Given the description of an element on the screen output the (x, y) to click on. 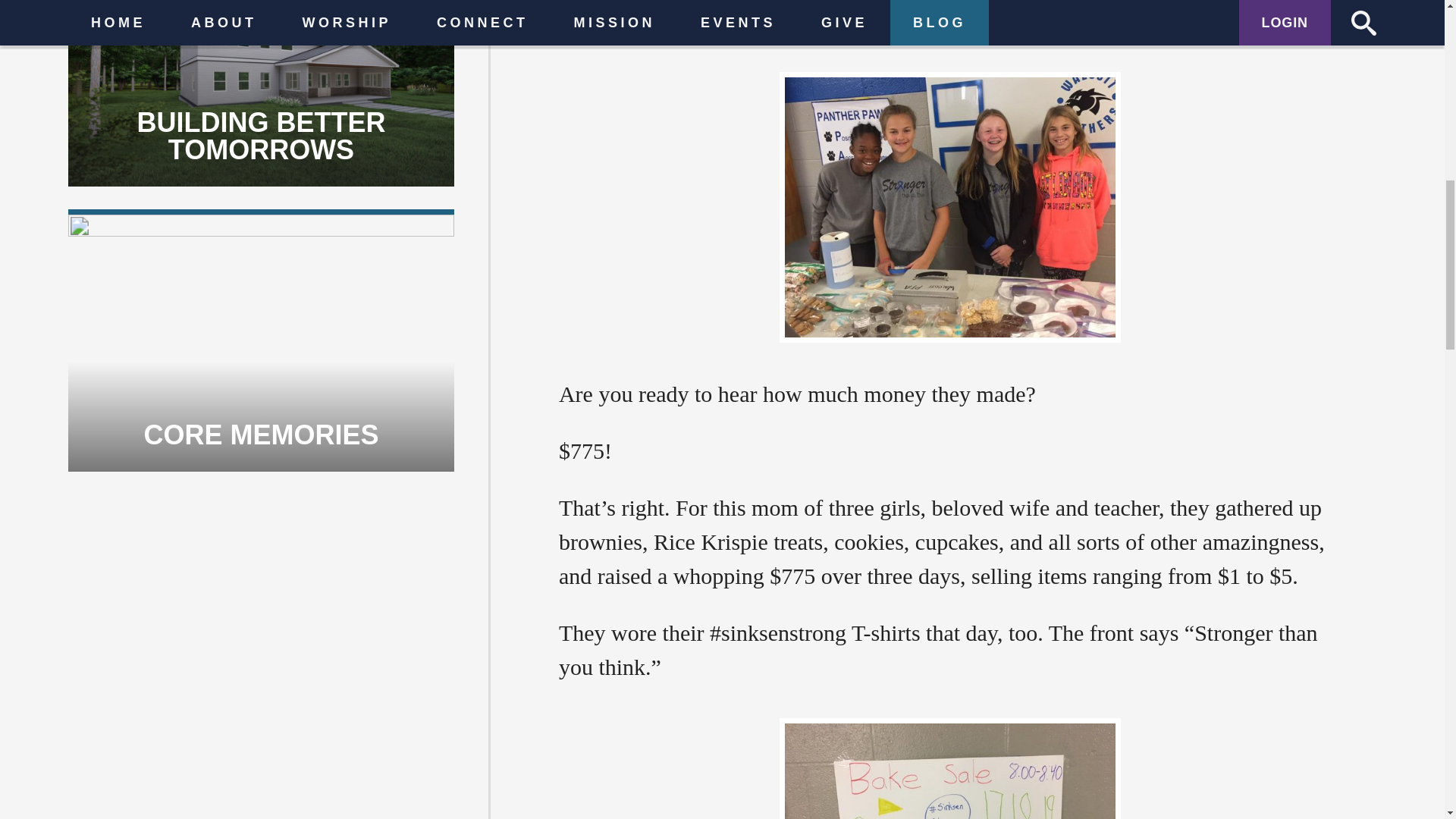
Share via Facebook (615, 759)
Share via Email (579, 759)
Share via Twitter (651, 759)
Share via Pinterest (688, 759)
